Given the description of an element on the screen output the (x, y) to click on. 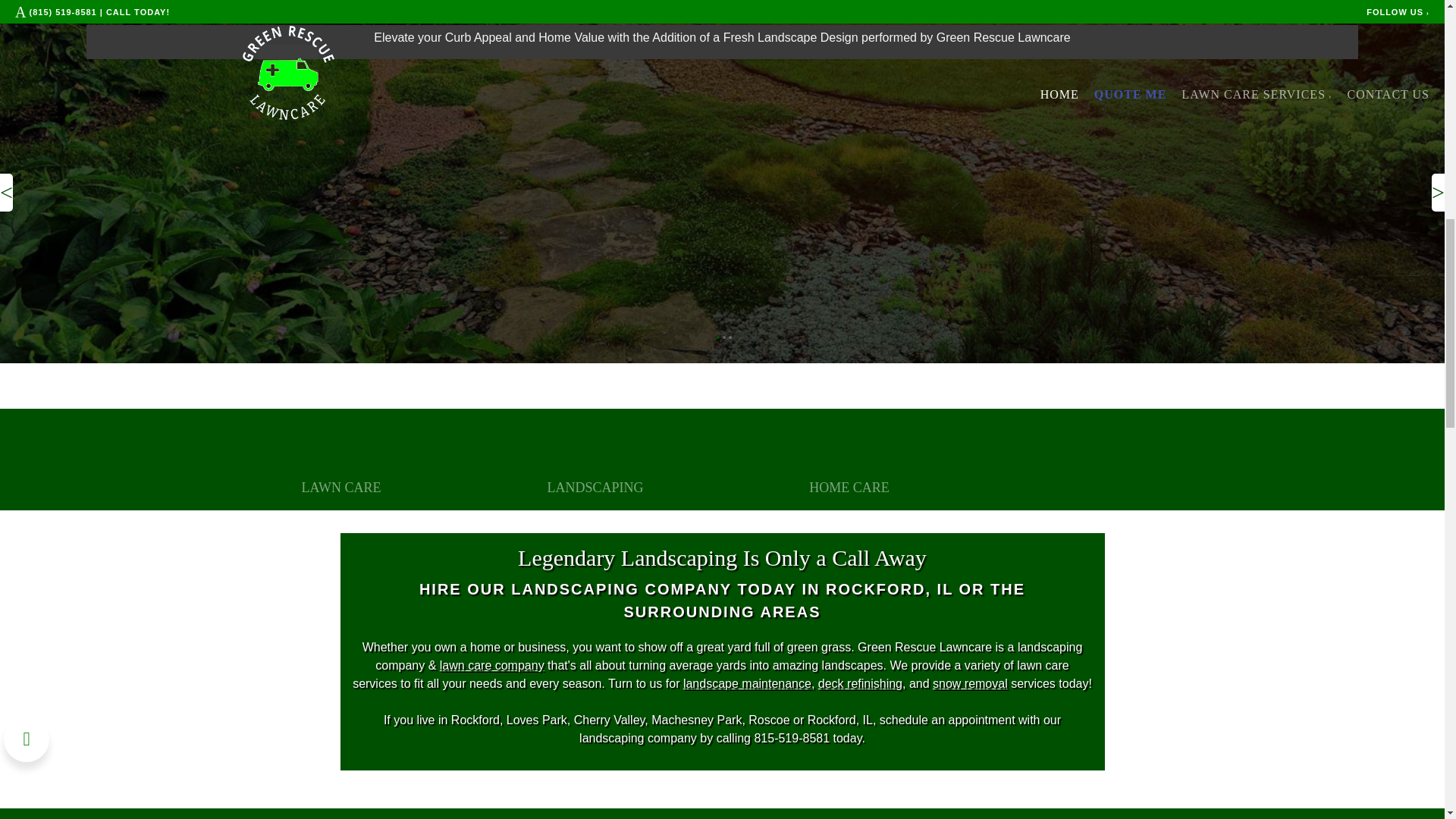
HOME CARE (849, 487)
deck refinishing (860, 683)
LANDSCAPING (595, 487)
landscape maintenance (746, 683)
lawn care company (491, 665)
LAWN CARE (340, 487)
snow removal (970, 683)
